Given the description of an element on the screen output the (x, y) to click on. 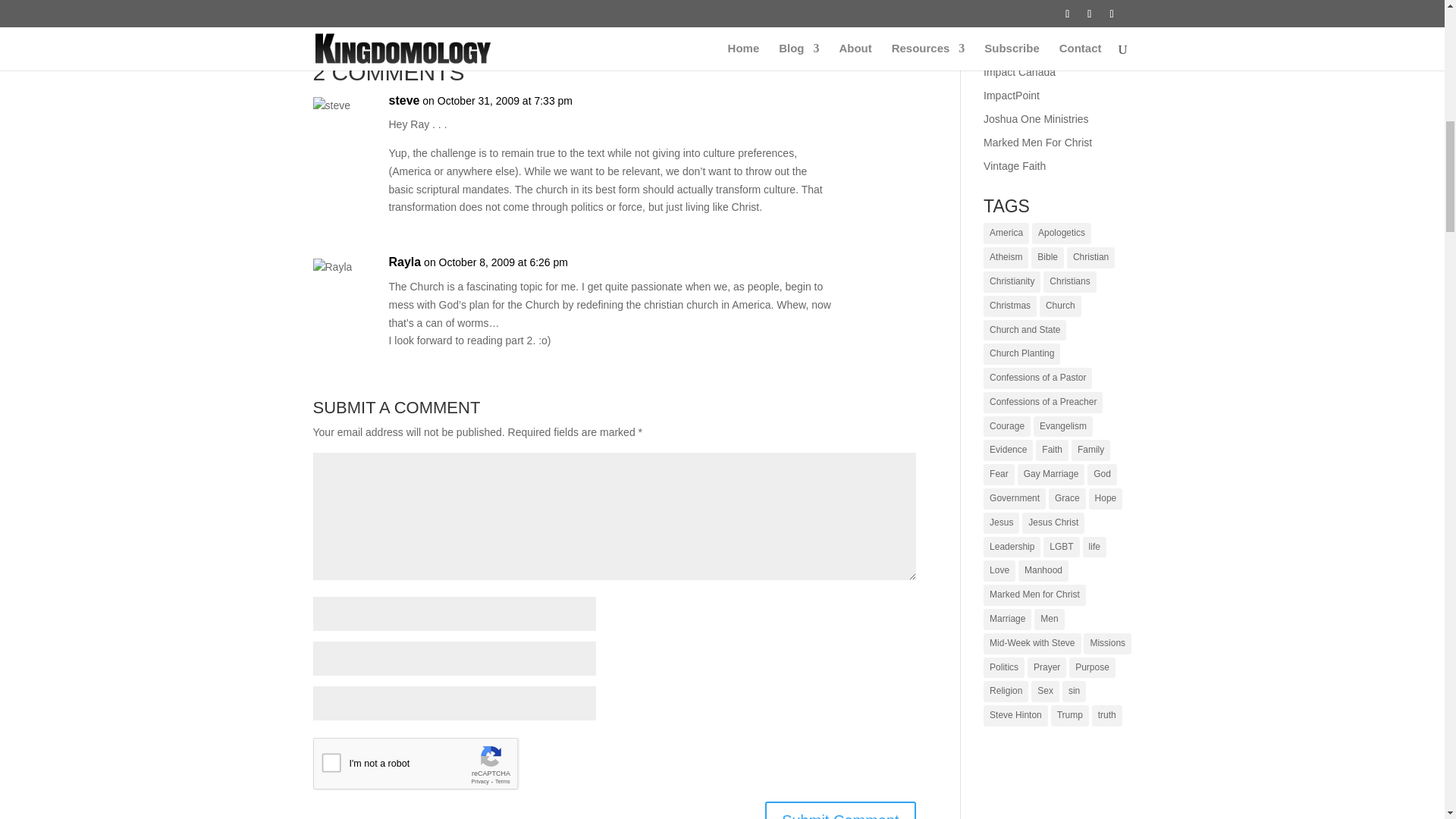
Pinterest (445, 1)
Twitter (357, 1)
Submit Comment (840, 810)
Facebook (327, 1)
More (476, 1)
Reddit (385, 1)
reCAPTCHA (428, 766)
Linkedin (416, 1)
